Given the description of an element on the screen output the (x, y) to click on. 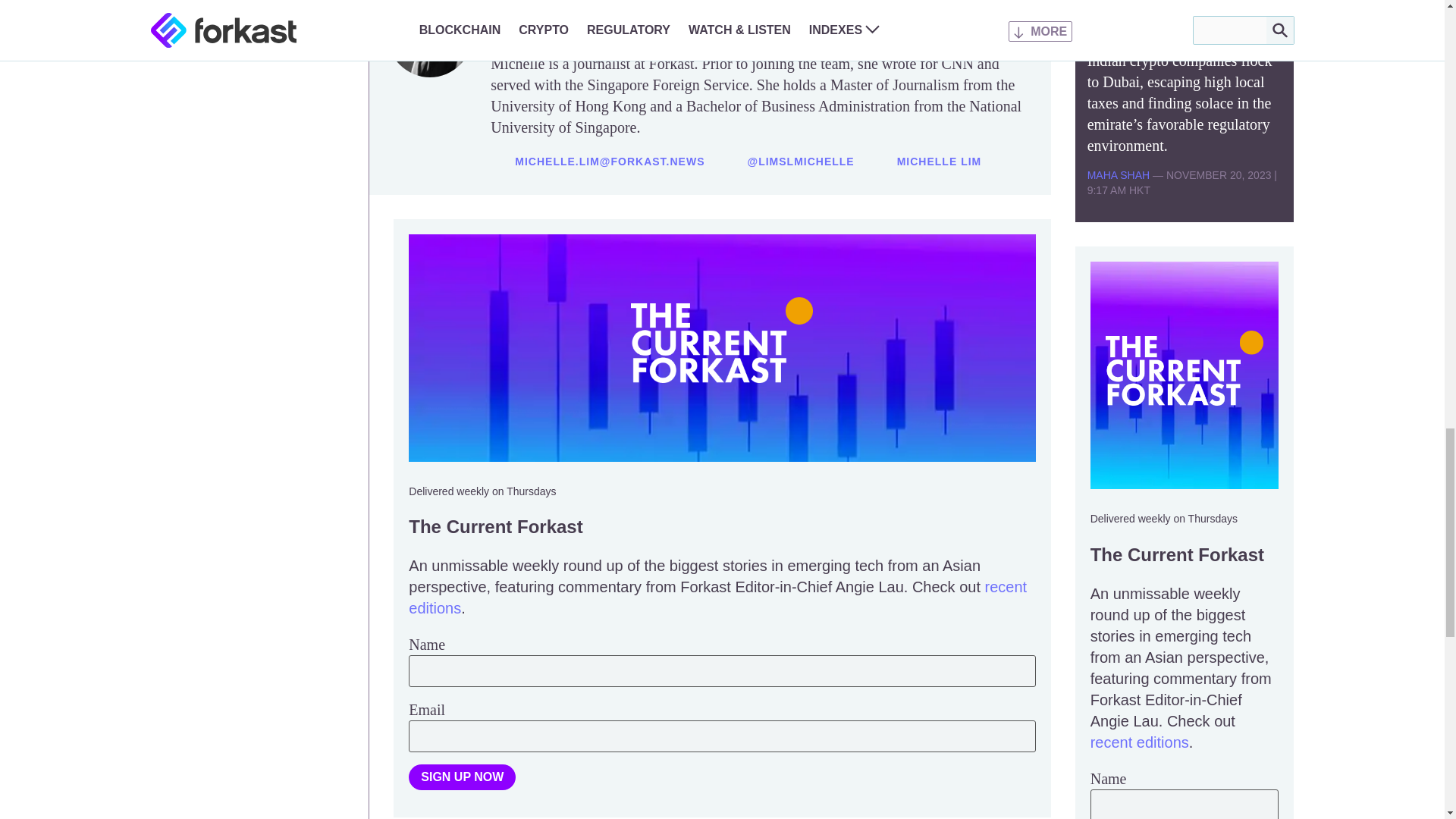
Posts by Maha Shah (1118, 174)
Sign up now (462, 777)
